Given the description of an element on the screen output the (x, y) to click on. 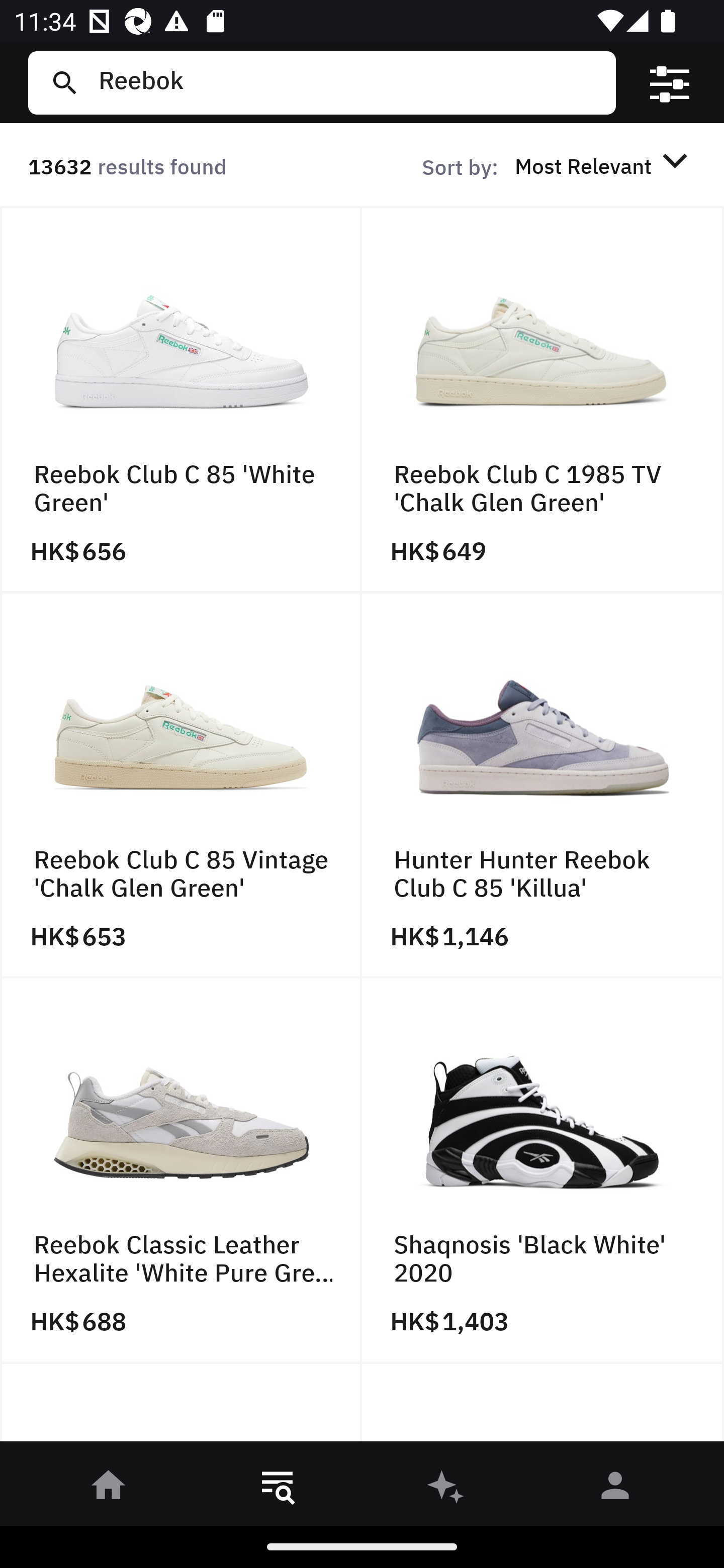
Reebok (349, 82)
 (669, 82)
Most Relevant  (604, 165)
Reebok Club C 85 'White Green' HK$ 656 (181, 399)
Reebok Club C 1985 TV 'Chalk Glen Green' HK$ 649 (543, 399)
Hunter Hunter Reebok Club C 85 'Killua' HK$ 1,146 (543, 785)
Shaqnosis 'Black White' 2020 HK$ 1,403 (543, 1171)
󰋜 (108, 1488)
󱎸 (277, 1488)
󰫢 (446, 1488)
󰀄 (615, 1488)
